Given the description of an element on the screen output the (x, y) to click on. 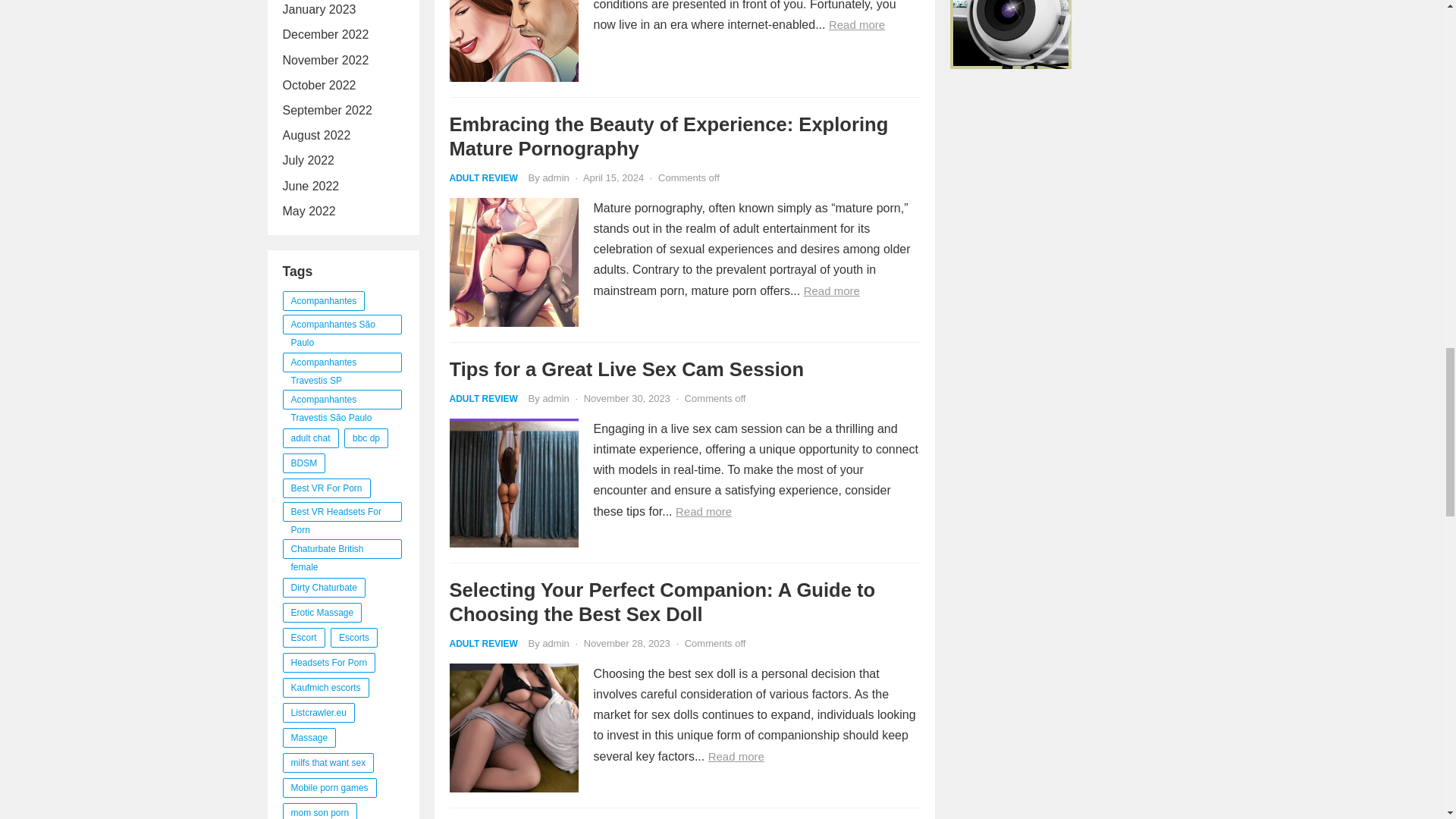
Posts by admin (555, 643)
Posts by admin (555, 177)
Posts by admin (555, 398)
